Given the description of an element on the screen output the (x, y) to click on. 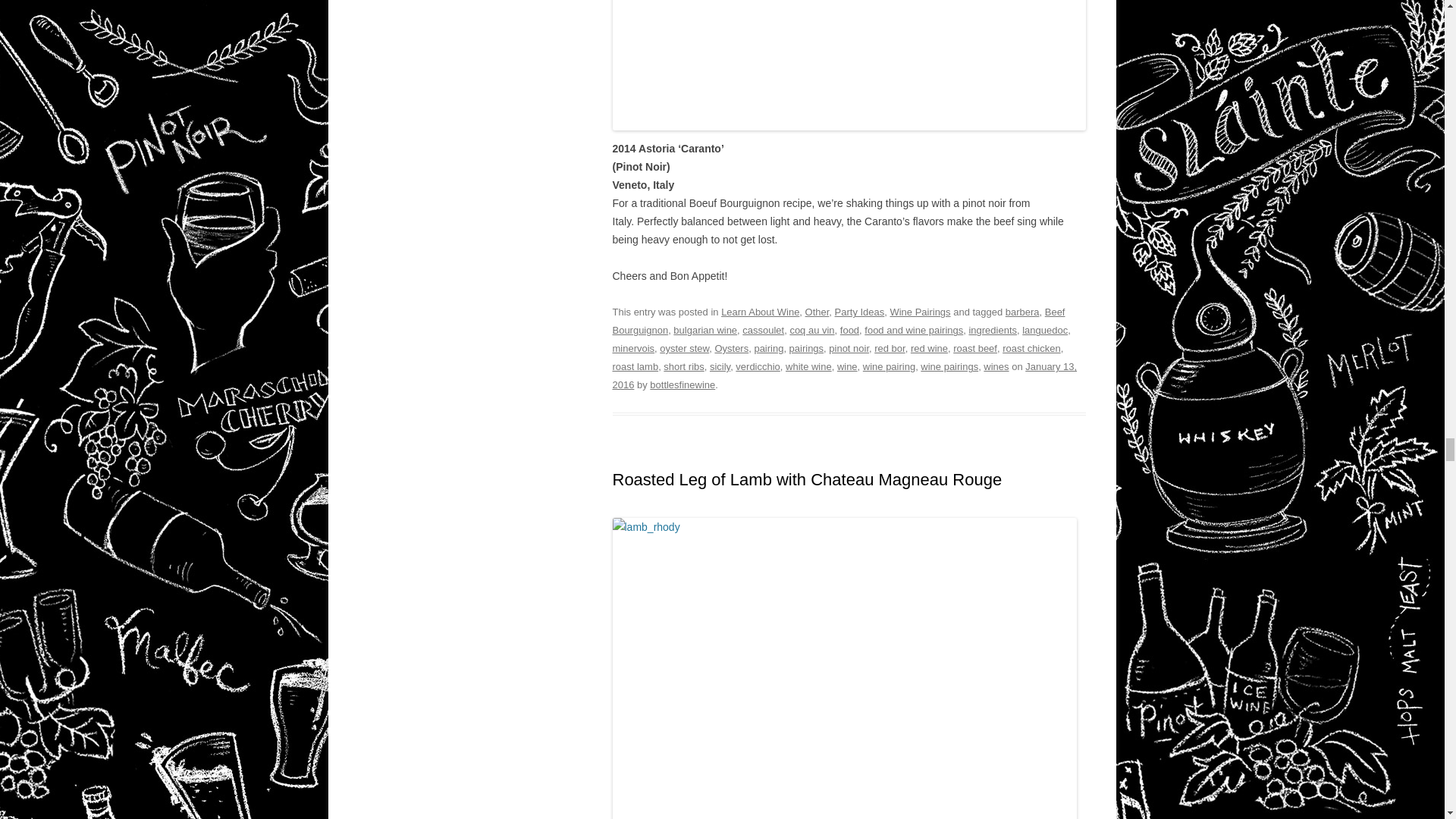
5:17 PM (844, 375)
View all posts by bottlesfinewine (681, 384)
